Given the description of an element on the screen output the (x, y) to click on. 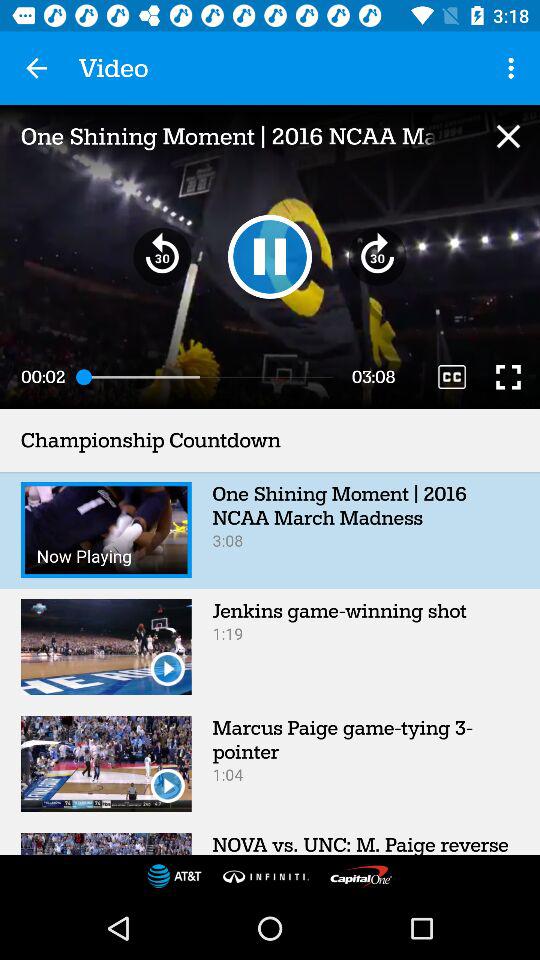
video quality change (452, 376)
